Given the description of an element on the screen output the (x, y) to click on. 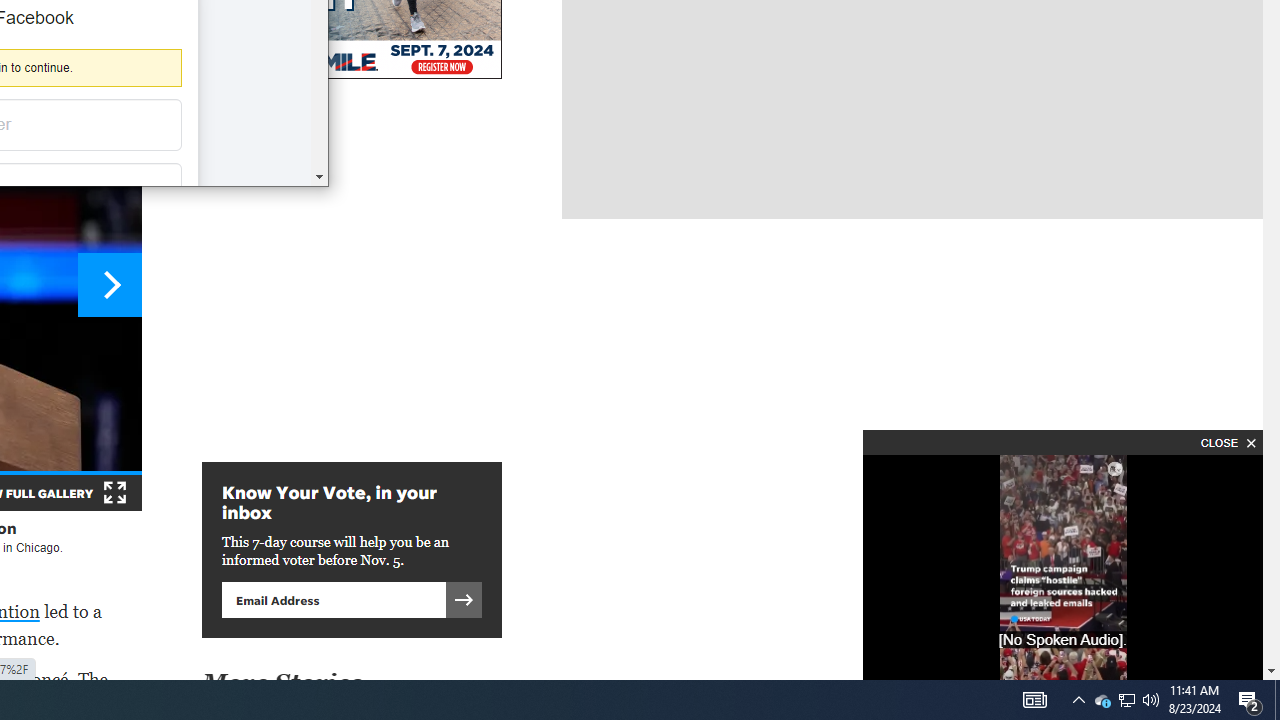
Action Center, 2 new notifications (1250, 699)
Notification Chevron (1078, 699)
User Promoted Notification Area (1126, 699)
Email address (333, 599)
Submit to sign up for newsletter (463, 599)
Q2790: 100% (1151, 699)
AutomationID: 4105 (1034, 699)
Show desktop (1277, 699)
Close autoplay video player (1226, 442)
